Given the description of an element on the screen output the (x, y) to click on. 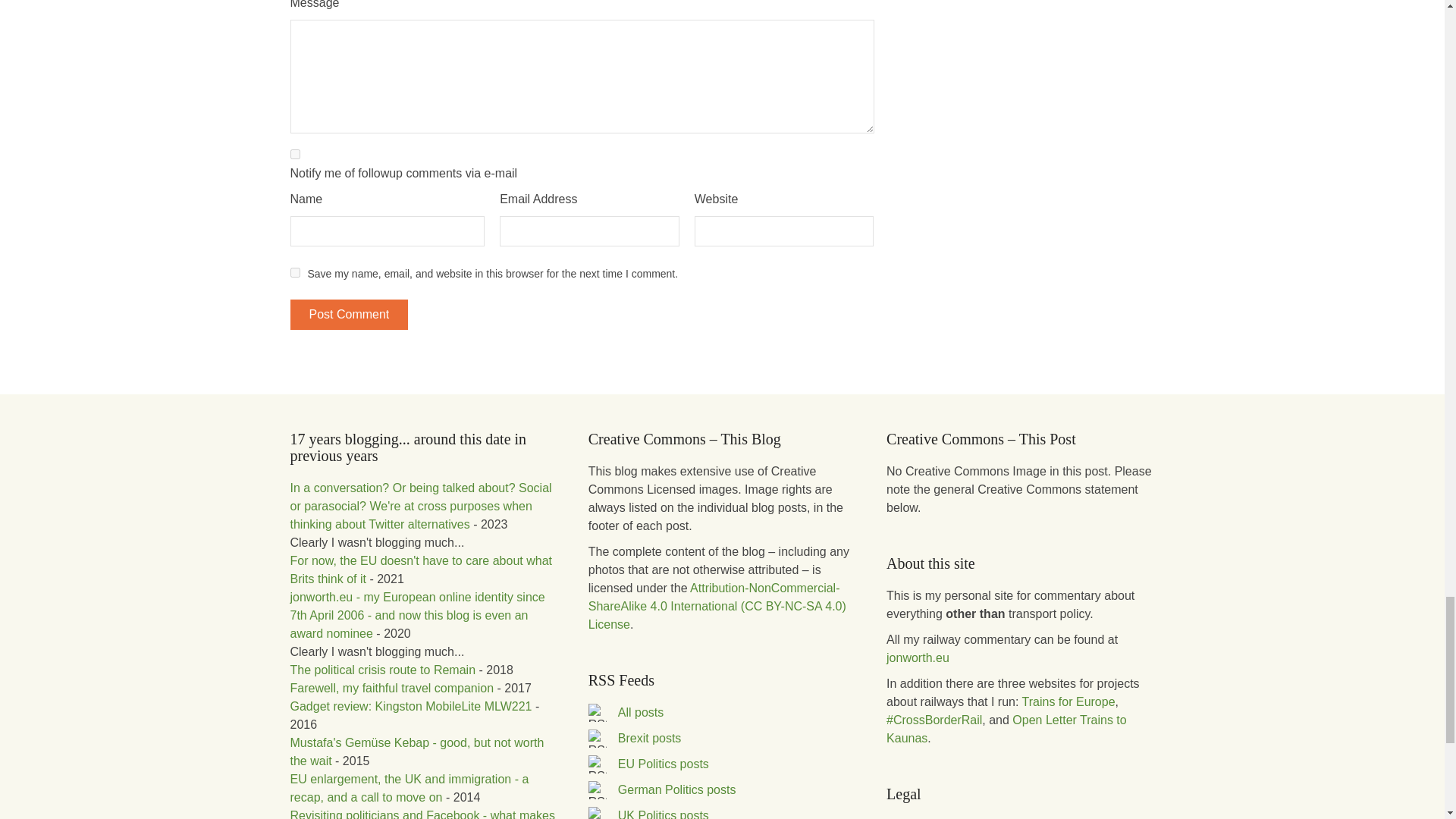
Permanent link to Gadget review: Kingston MobileLite MLW22 (410, 706)
Post Comment (348, 314)
yes (294, 272)
Permanent link to The political crisis route to Remain (382, 669)
Permanent link to Farewell, my faithful travel companion (391, 687)
subscribe (294, 153)
